Given the description of an element on the screen output the (x, y) to click on. 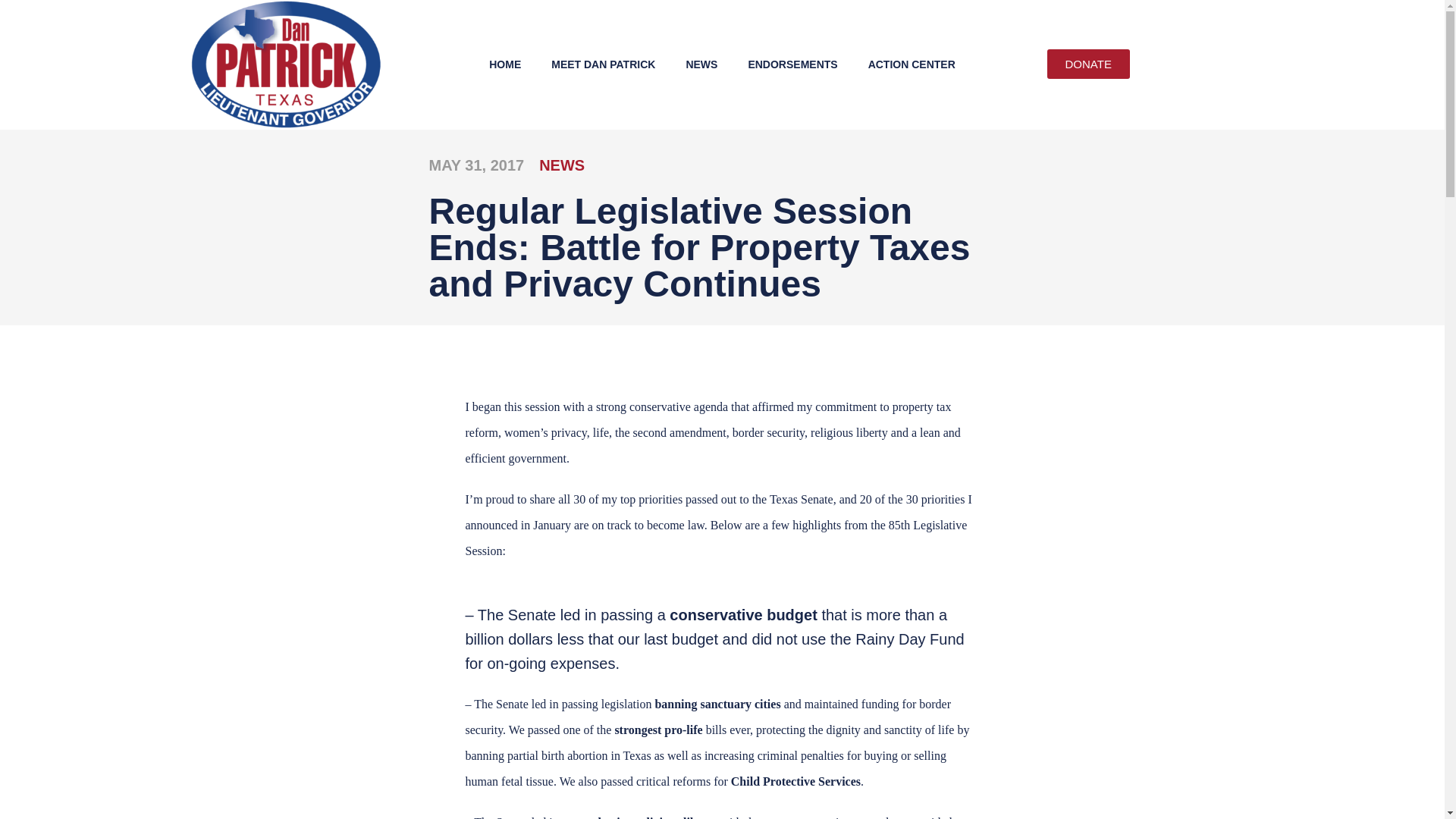
NEWS (700, 63)
HOME (504, 63)
DONATE (1087, 63)
MEET DAN PATRICK (602, 63)
ENDORSEMENTS (791, 63)
ACTION CENTER (912, 63)
